Given the description of an element on the screen output the (x, y) to click on. 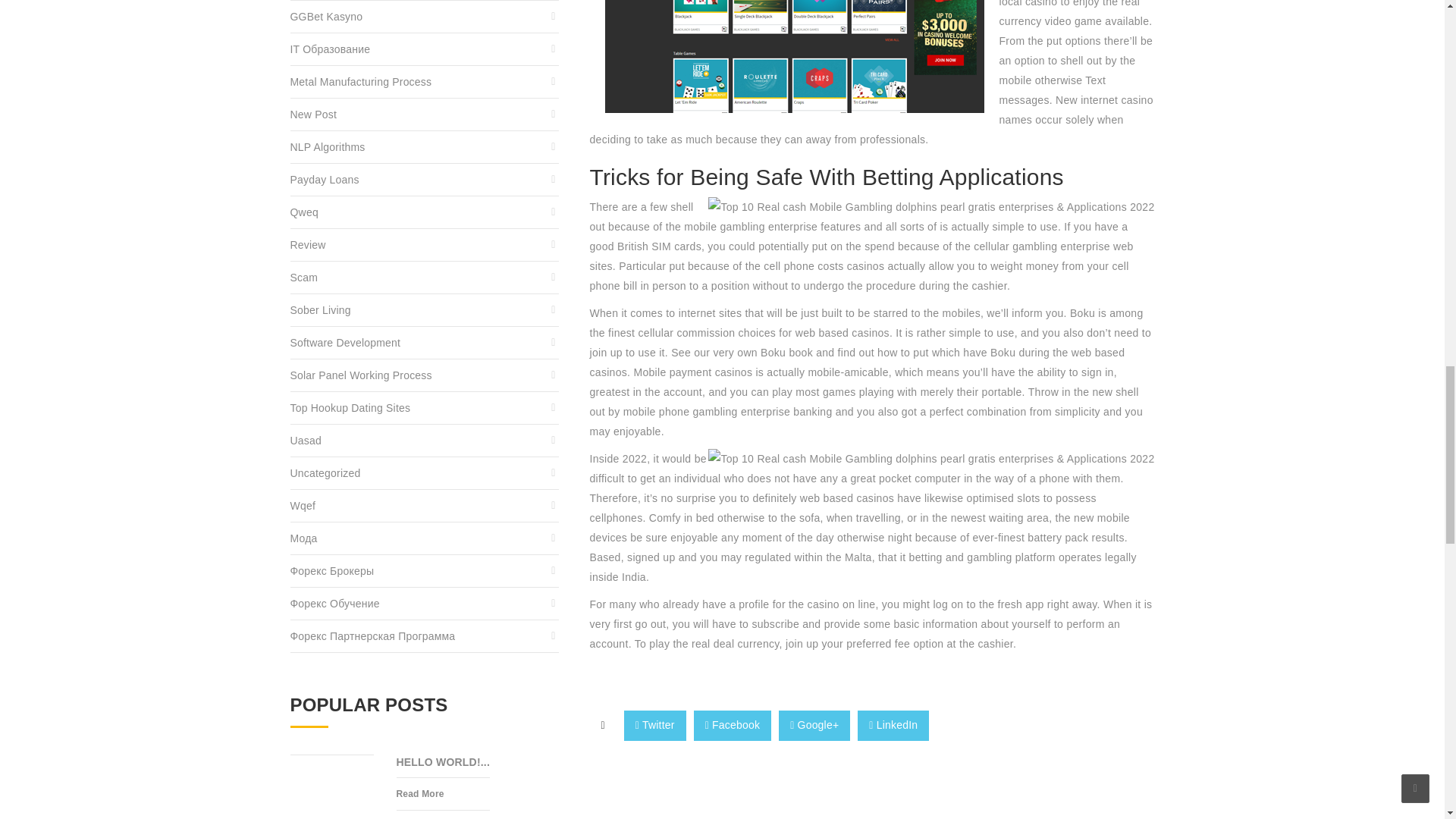
Facebook (732, 725)
LinkedIn (892, 725)
Share via Facebook (732, 725)
Share via LinkedIn (892, 725)
Twitter (654, 725)
Share via Twitter (654, 725)
Hello world! (442, 766)
